Given the description of an element on the screen output the (x, y) to click on. 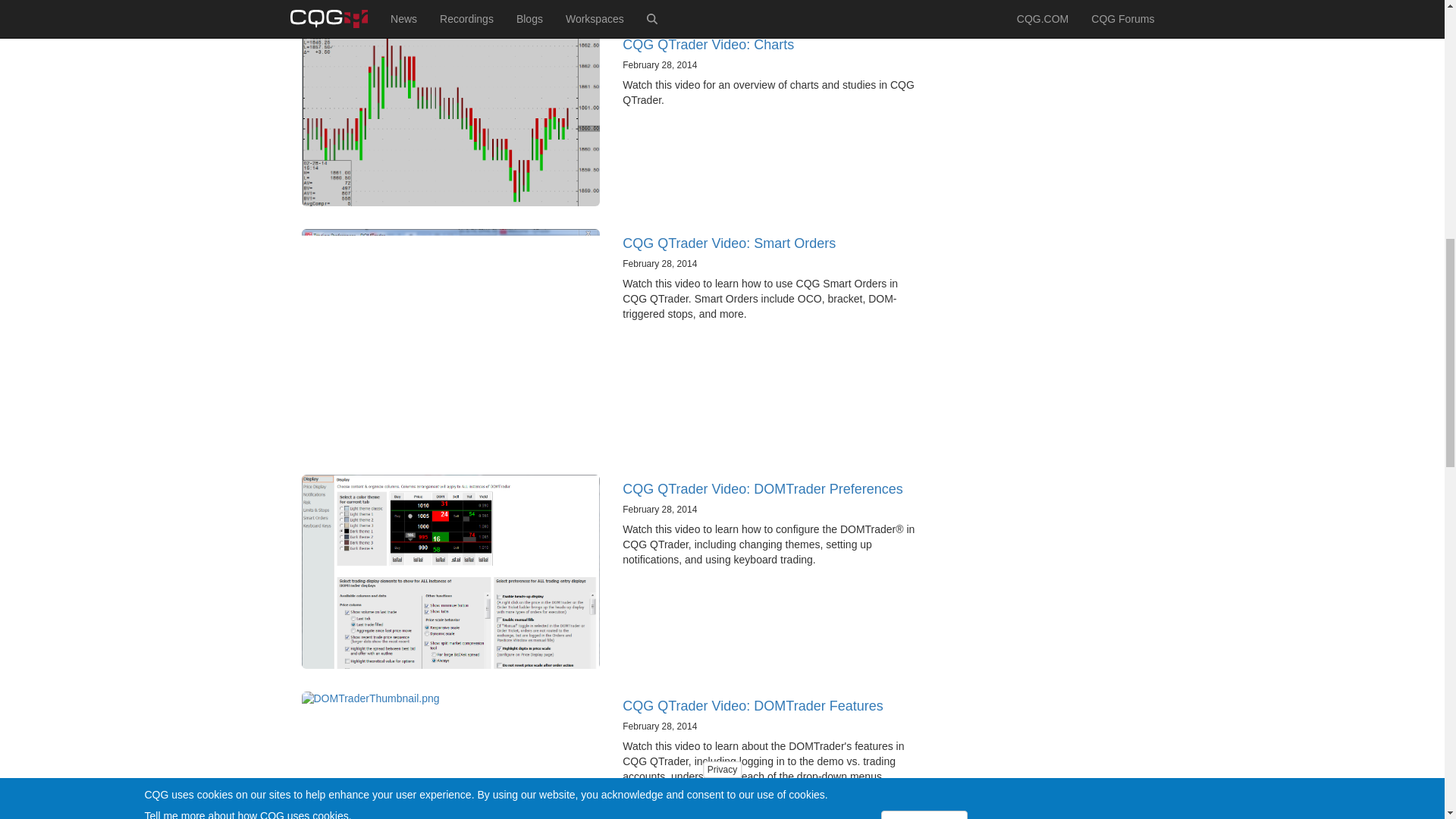
CQG QTrader Video: Smart Orders (729, 242)
CQG QTrader Video: DOMTrader Preferences (762, 488)
more (750, 791)
CQG QTrader Video: DOMTrader Features (752, 705)
CQG QTrader Video: Charts (708, 44)
